Given the description of an element on the screen output the (x, y) to click on. 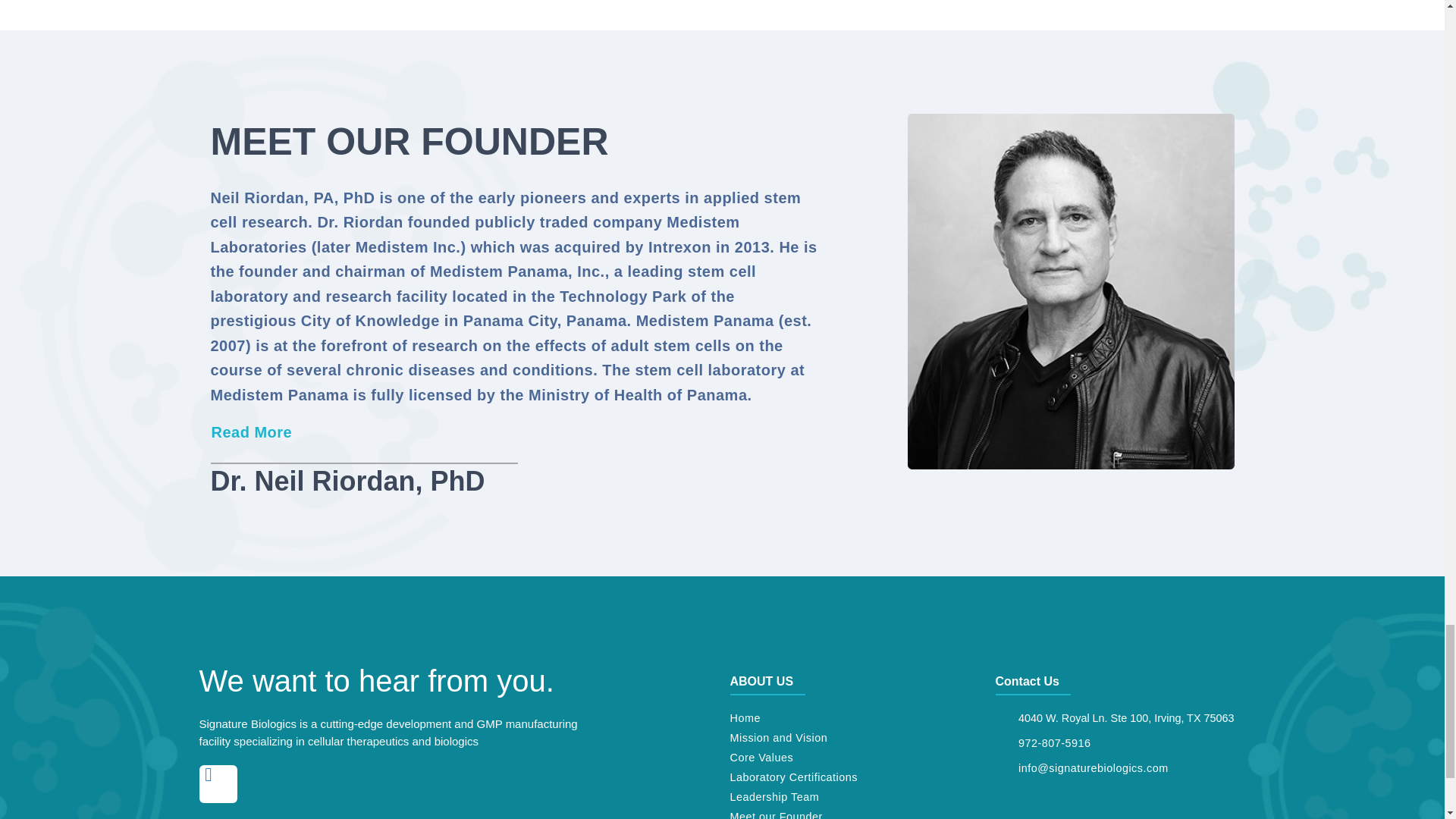
Core Values (854, 757)
Leadership Team (854, 796)
972-807-5916 (1119, 743)
Mission and Vision (854, 737)
Read More (251, 432)
Home (854, 718)
Laboratory Certifications (854, 777)
Meet our Founder (854, 813)
